Given the description of an element on the screen output the (x, y) to click on. 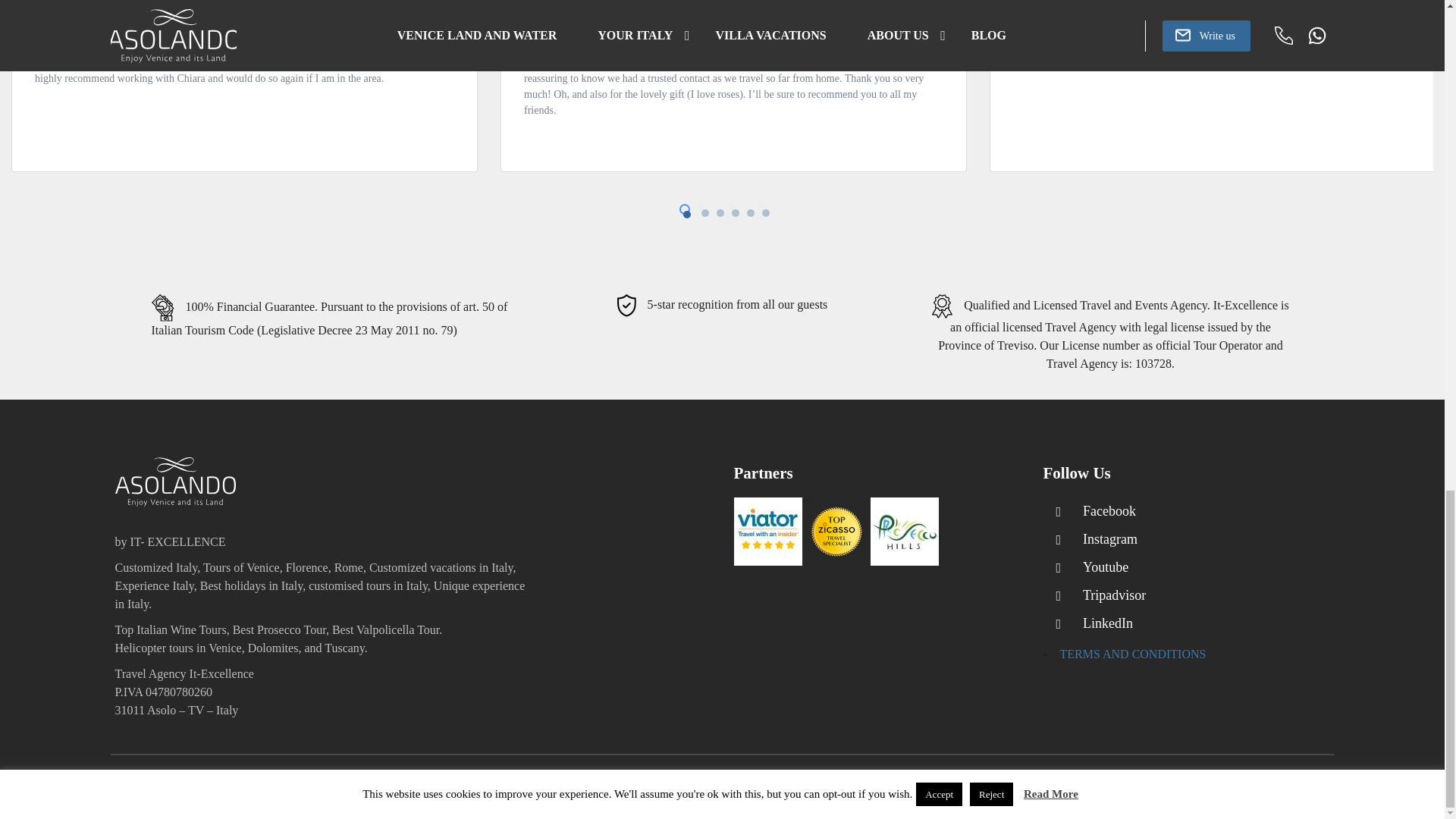
logo-zicasso (836, 531)
viator-5-stars-logo (767, 531)
logo prosecco hills (904, 531)
Privacy Policy  (1281, 787)
